Given the description of an element on the screen output the (x, y) to click on. 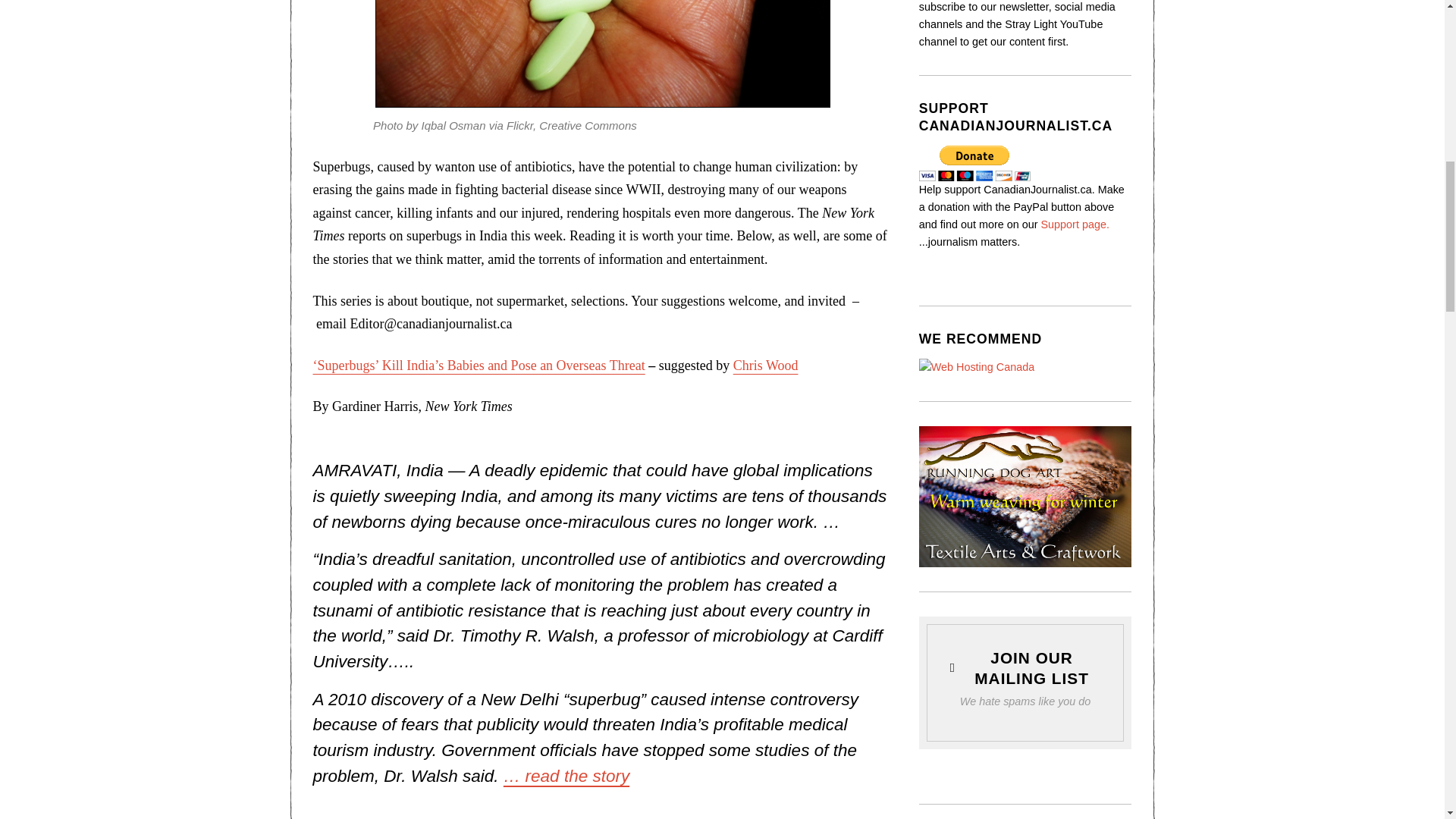
PayPal - The safer, easier way to pay online! (974, 162)
Chris Wood (765, 365)
